Given the description of an element on the screen output the (x, y) to click on. 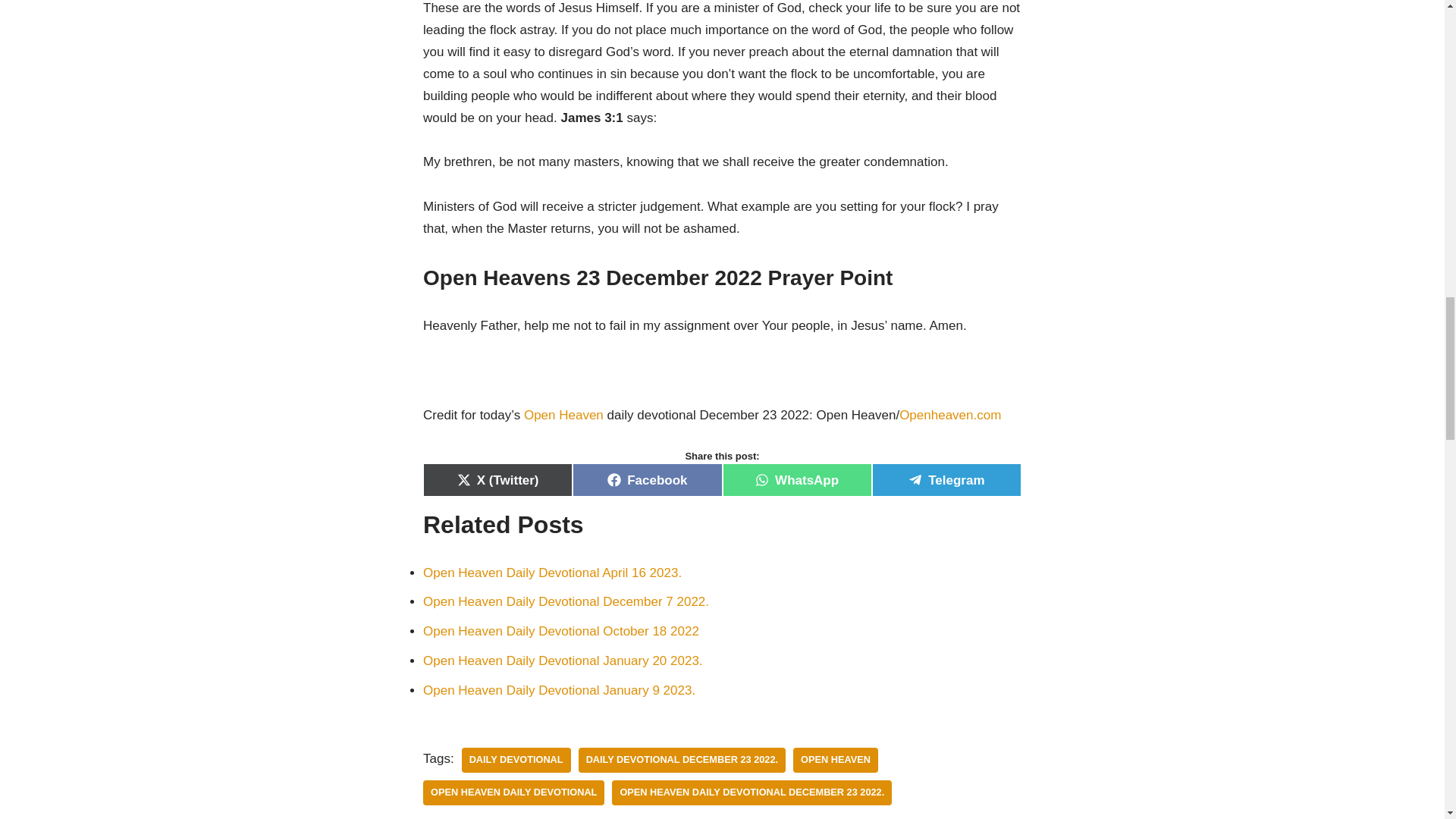
DAILY DEVOTIONAL (515, 760)
Telegram (947, 479)
Open heaven (835, 760)
Open Heaven Daily Devotional January 20 2023. (563, 660)
OPEN HEAVEN (835, 760)
Openheaven.com (950, 414)
Open Heaven Daily Devotional January 9 2023. (559, 690)
Facebook (647, 479)
Open Heaven Daily Devotional April 16 2023. (552, 572)
OPEN HEAVEN DAILY DEVOTIONAL (513, 792)
Daily Devotional (515, 760)
WhatsApp (796, 479)
DAILY DEVOTIONAL DECEMBER 23 2022. (682, 760)
Daily Devotional December 23 2022. (682, 760)
Open Heaven Daily Devotional October 18 2022 (560, 631)
